Given the description of an element on the screen output the (x, y) to click on. 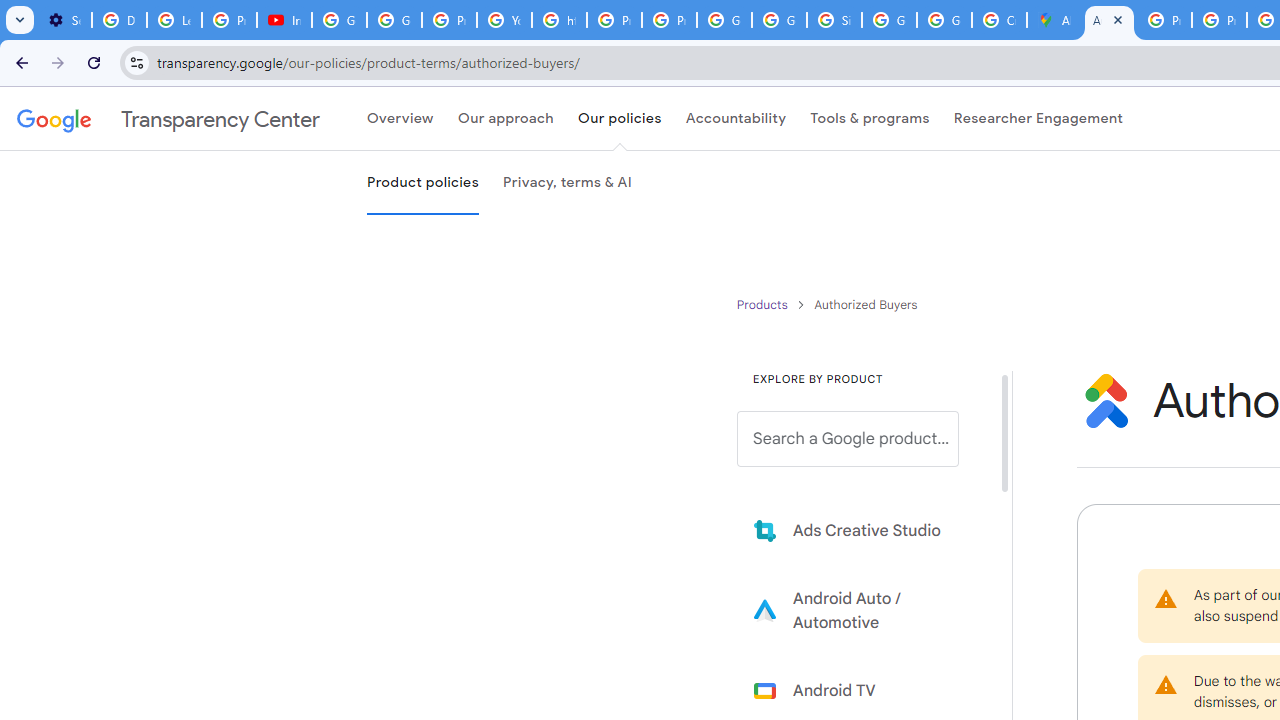
YouTube (504, 20)
Learn more about Android Auto (862, 610)
Our policies (619, 119)
Product policies (763, 304)
Settings - Performance (64, 20)
Learn more about Ads Creative Studio (862, 530)
Create your Google Account (998, 20)
